Given the description of an element on the screen output the (x, y) to click on. 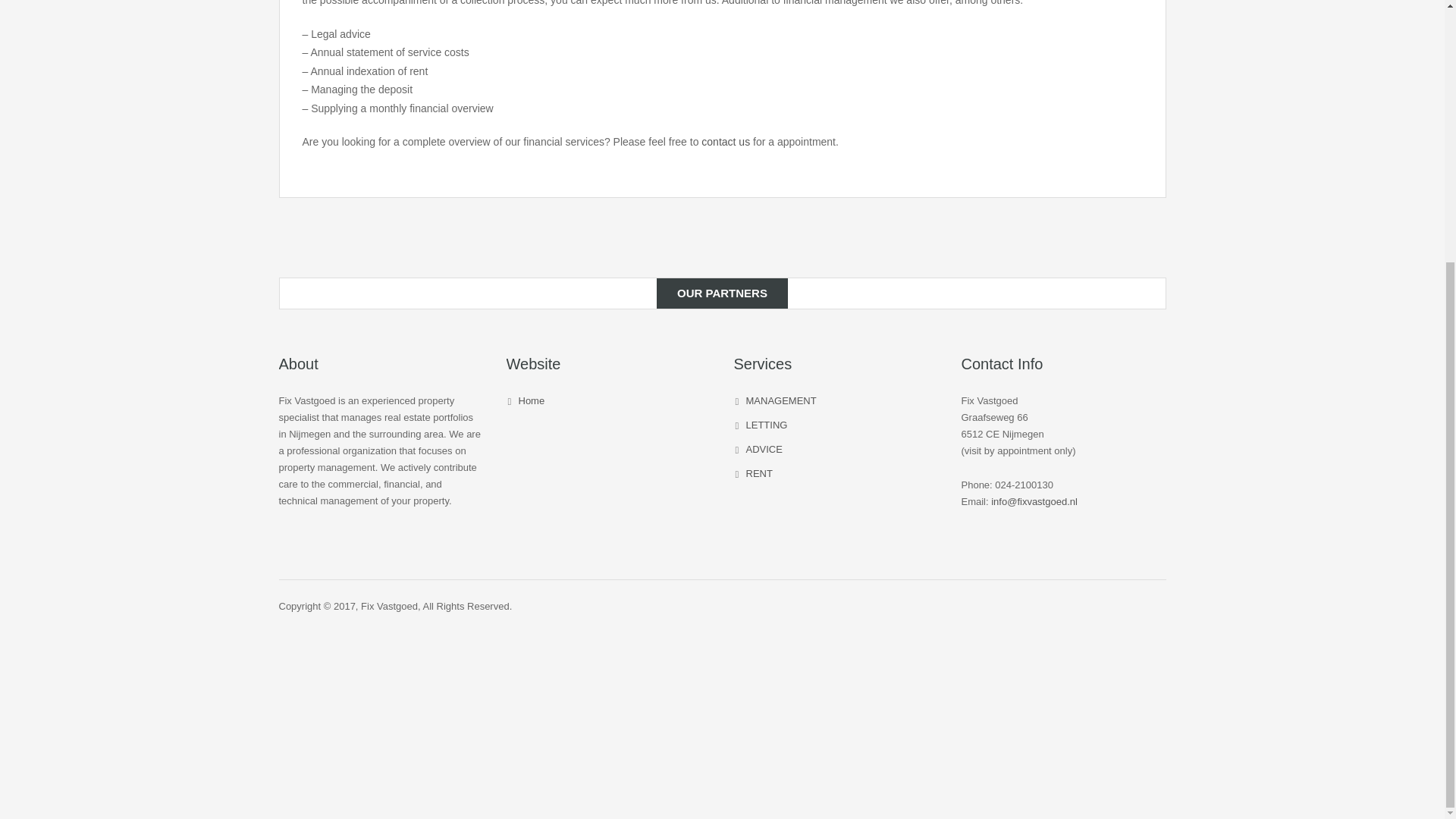
contact us (725, 141)
